Given the description of an element on the screen output the (x, y) to click on. 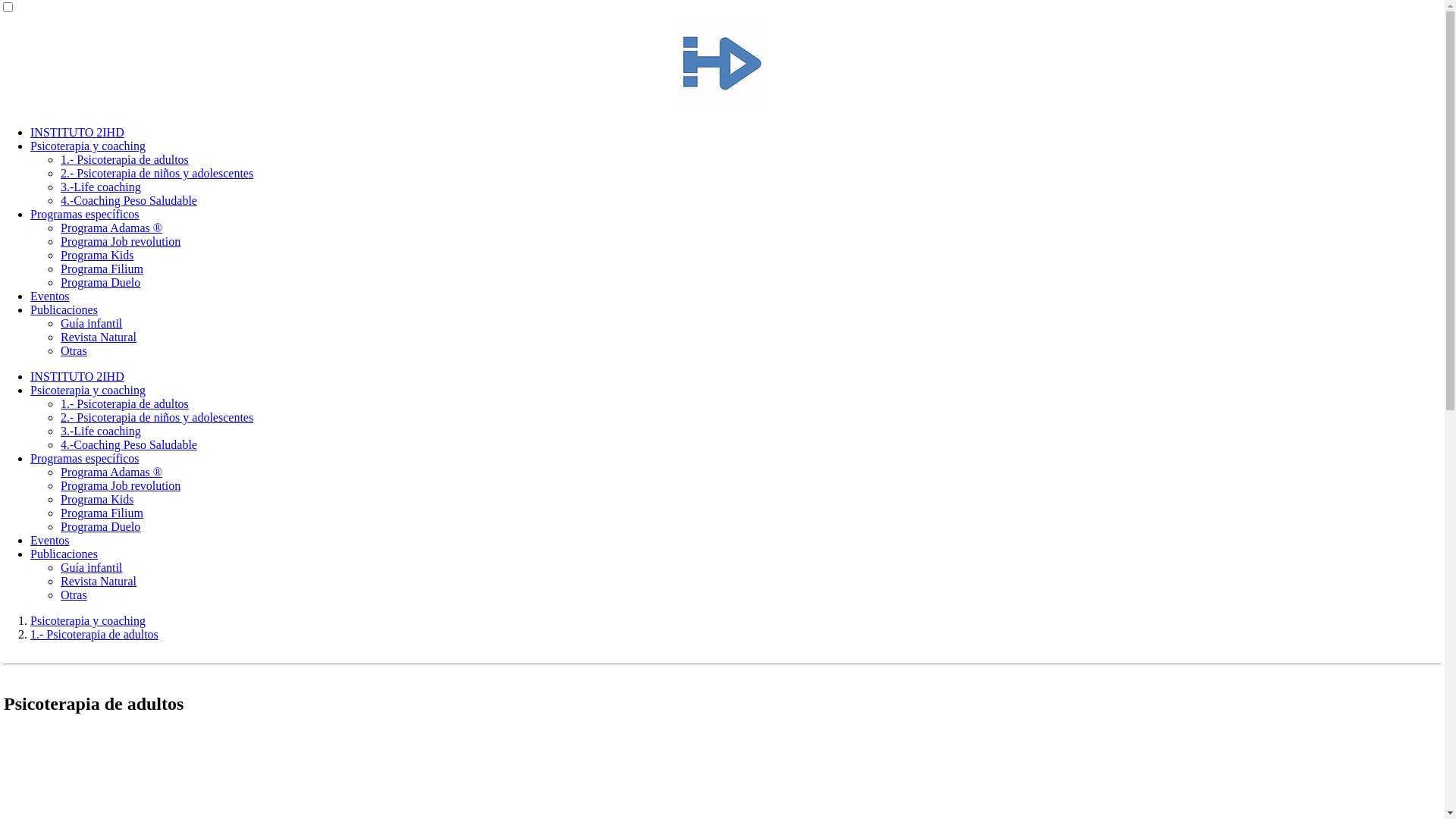
Publicaciones Element type: text (63, 553)
1.- Psicoterapia de adultos Element type: text (94, 633)
Programa Filium Element type: text (101, 268)
Programa Job revolution Element type: text (120, 241)
Otras Element type: text (73, 350)
Publicaciones Element type: text (63, 309)
Programa Duelo Element type: text (100, 526)
4.-Coaching Peso Saludable Element type: text (128, 200)
Programa Kids Element type: text (96, 498)
3.-Life coaching Element type: text (100, 430)
Revista Natural Element type: text (98, 336)
Psicoterapia y coaching Element type: text (87, 389)
Eventos Element type: text (49, 539)
Programa Duelo Element type: text (100, 282)
1.- Psicoterapia de adultos Element type: text (124, 159)
Programa Kids Element type: text (96, 254)
Psicoterapia y coaching Element type: text (87, 145)
Programa Filium Element type: text (101, 512)
INSTITUTO 2IHD Element type: text (77, 376)
Psicoterapia y coaching Element type: text (87, 620)
Otras Element type: text (73, 594)
1.- Psicoterapia de adultos Element type: text (124, 403)
3.-Life coaching Element type: text (100, 186)
Revista Natural Element type: text (98, 580)
INSTITUTO 2IHD Element type: text (77, 131)
Programa Job revolution Element type: text (120, 485)
Eventos Element type: text (49, 295)
4.-Coaching Peso Saludable Element type: text (128, 444)
